Given the description of an element on the screen output the (x, y) to click on. 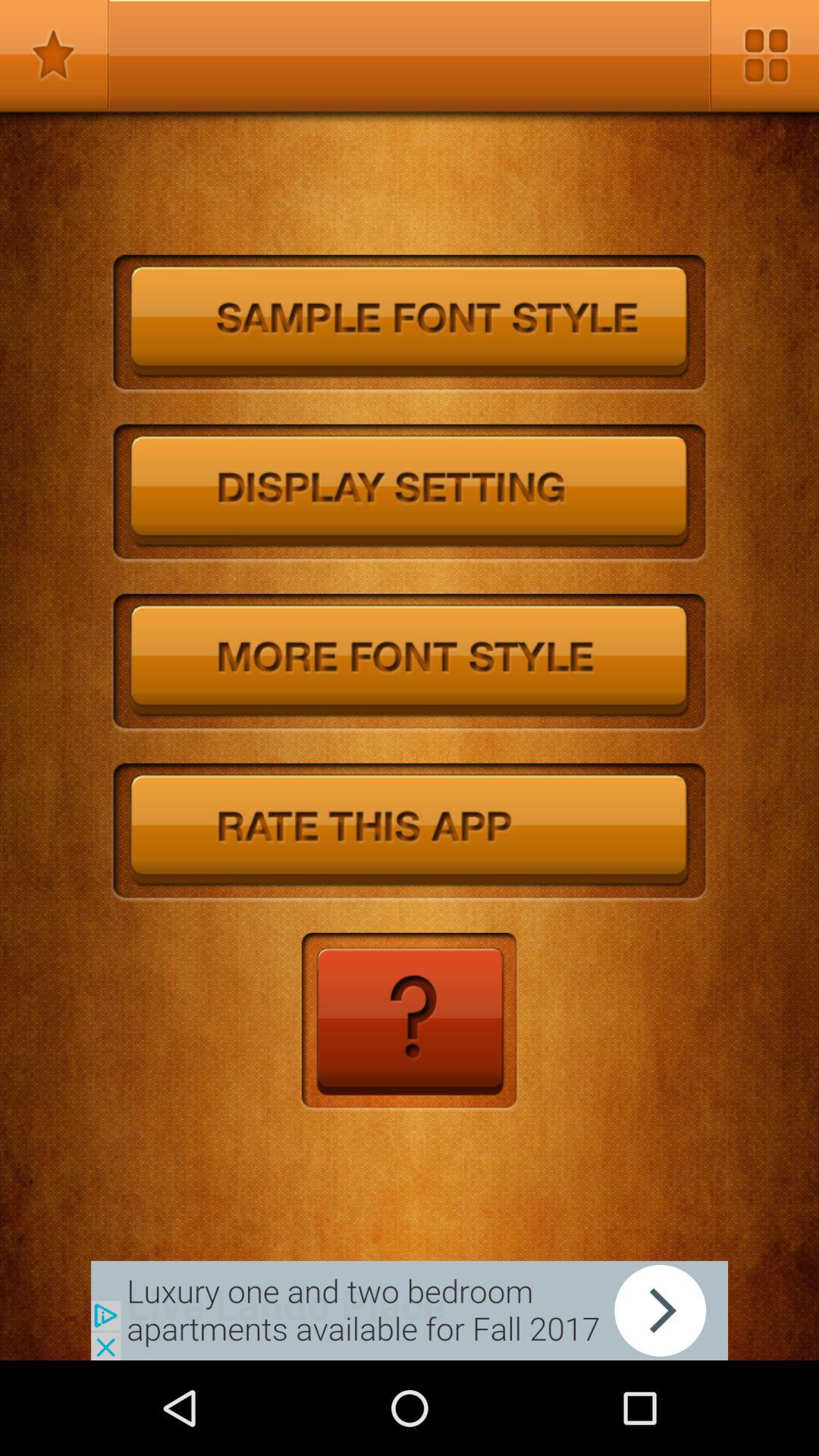
go to dashbord (764, 54)
